Given the description of an element on the screen output the (x, y) to click on. 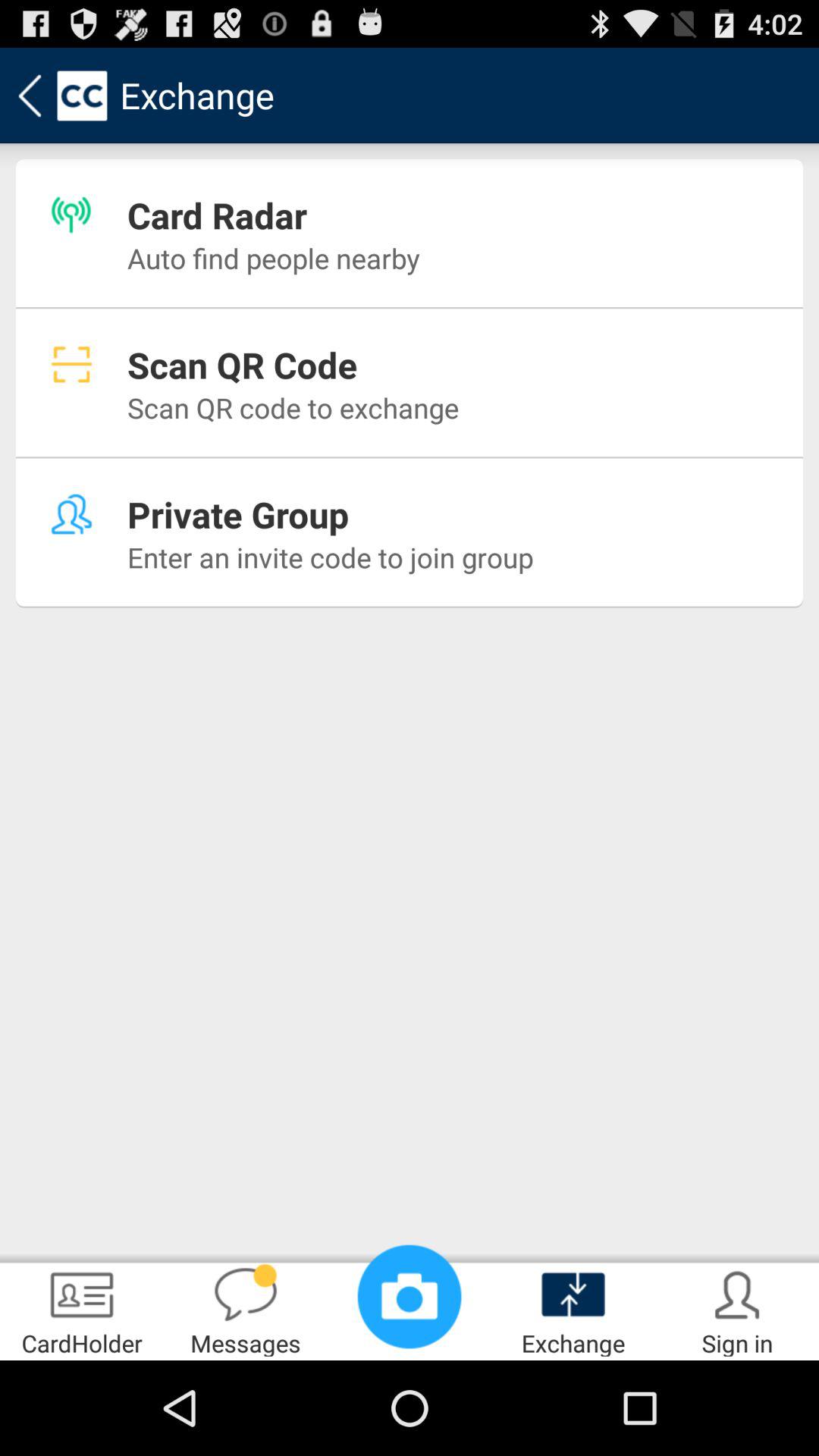
open item to the right of the cardholder item (245, 1309)
